Given the description of an element on the screen output the (x, y) to click on. 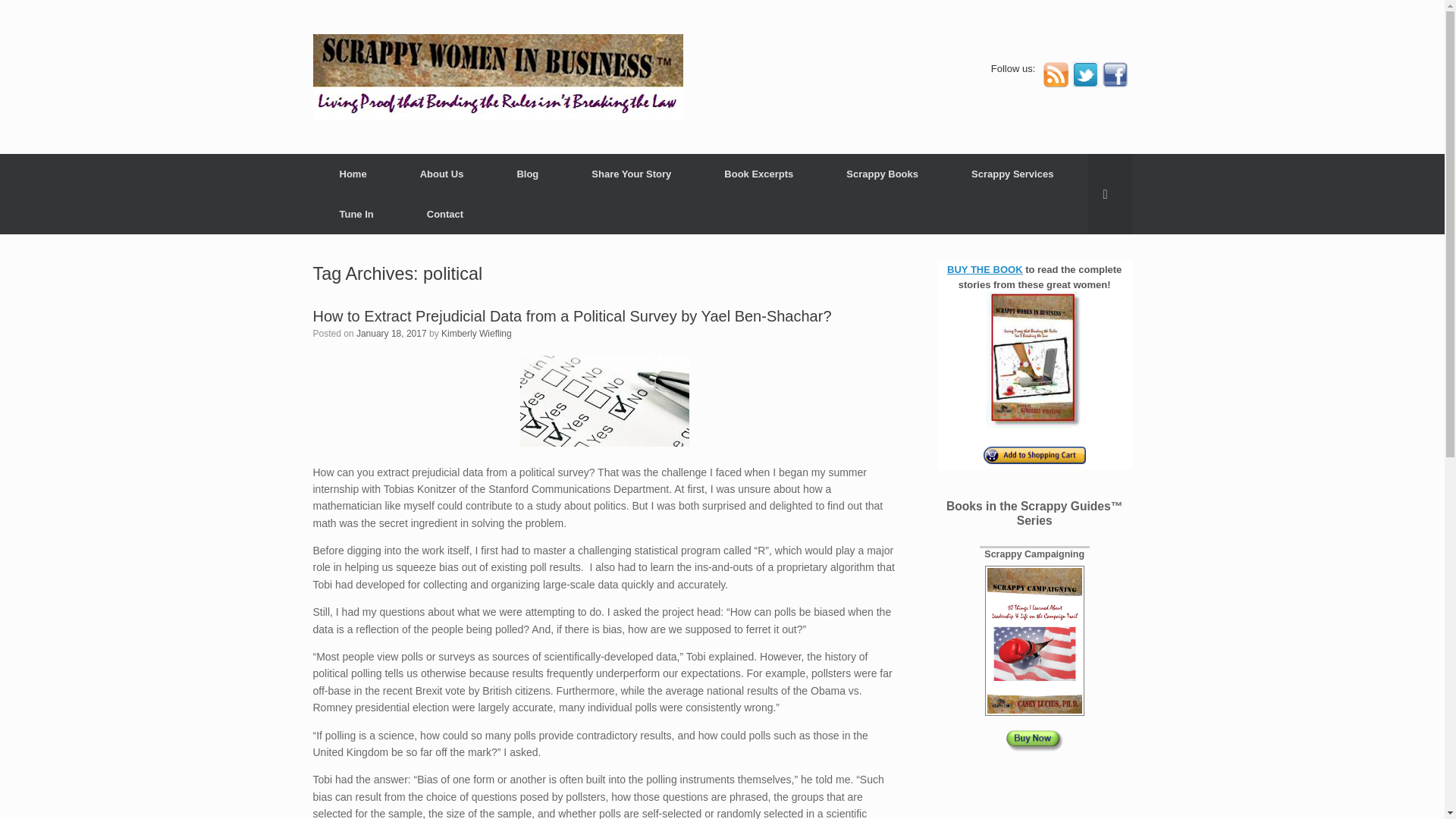
2:36 am (391, 333)
amazon1 (1035, 455)
View all posts by Kimberly Wiefling (476, 333)
Book Excerpts (758, 173)
Home (353, 173)
About Us (441, 173)
Connect on Facebook (1113, 84)
Scrappy Women in Business (497, 76)
Follow us on twitter (1085, 84)
